Given the description of an element on the screen output the (x, y) to click on. 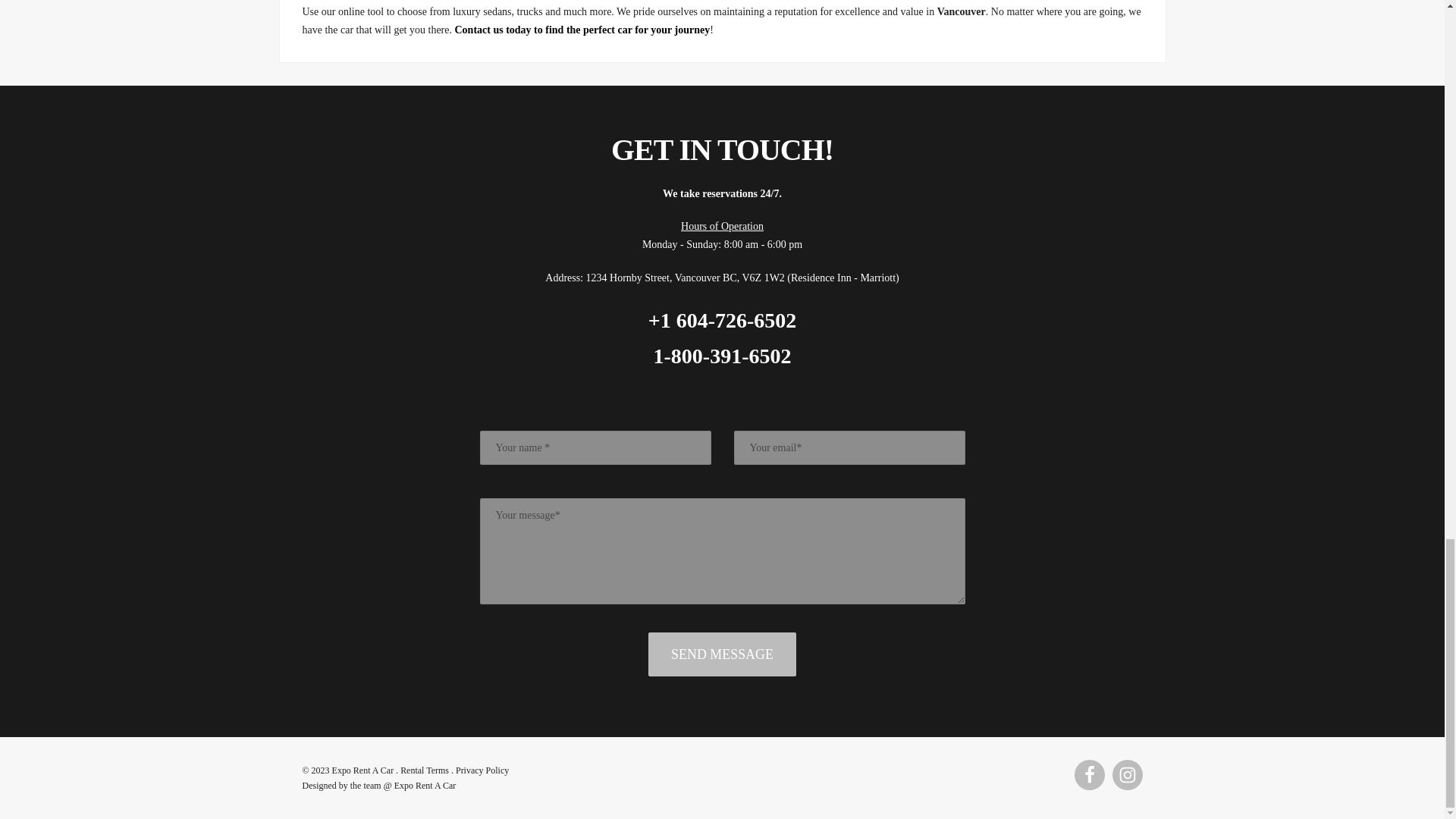
Privacy Policy (481, 769)
Instagram (1126, 775)
Facebook (1088, 775)
Send message (721, 654)
Contact us today to find the perfect car for your journey (582, 30)
Rental Terms (424, 769)
Send message (721, 654)
